Given the description of an element on the screen output the (x, y) to click on. 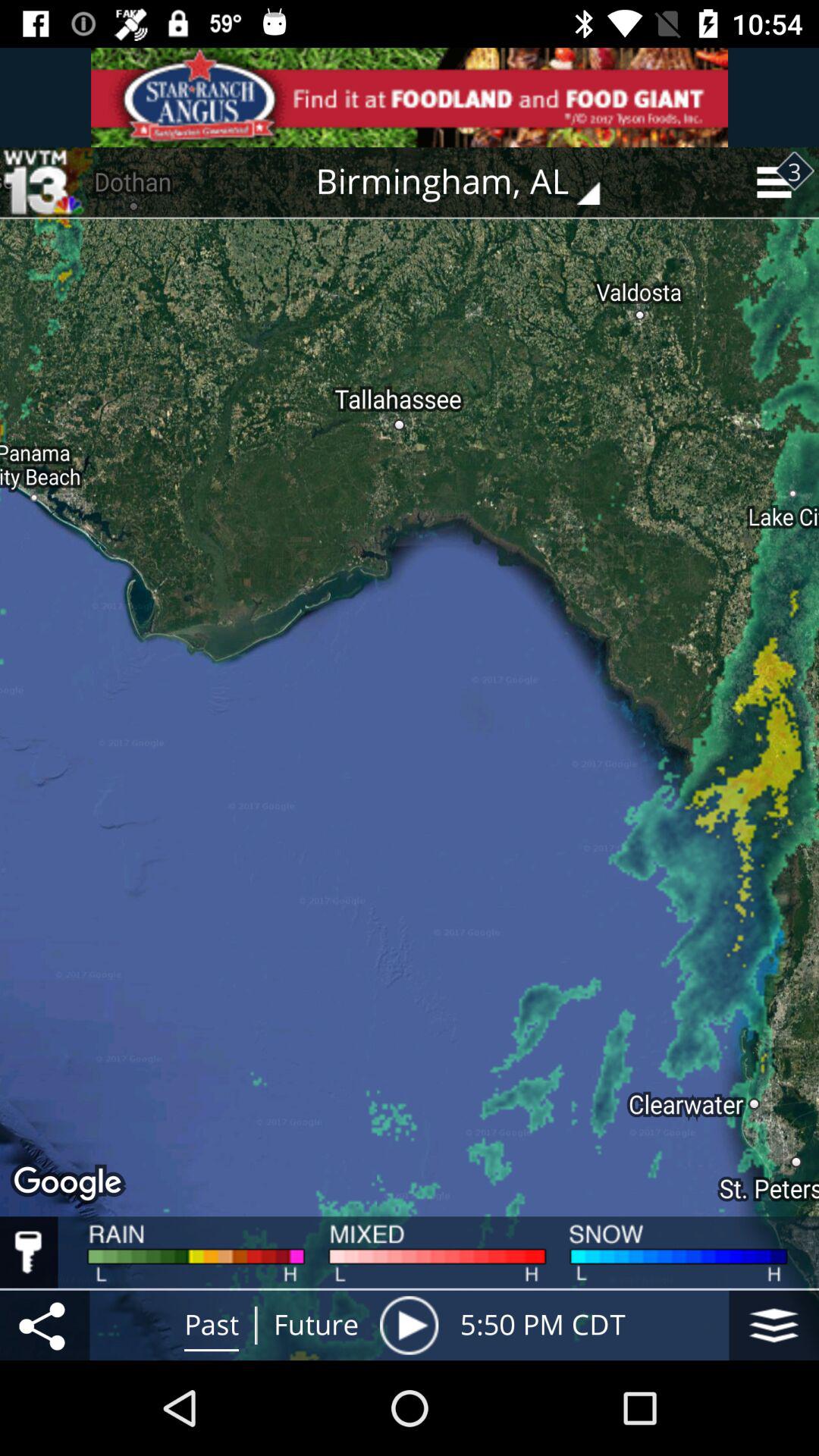
link to star ranch angus (409, 97)
